Given the description of an element on the screen output the (x, y) to click on. 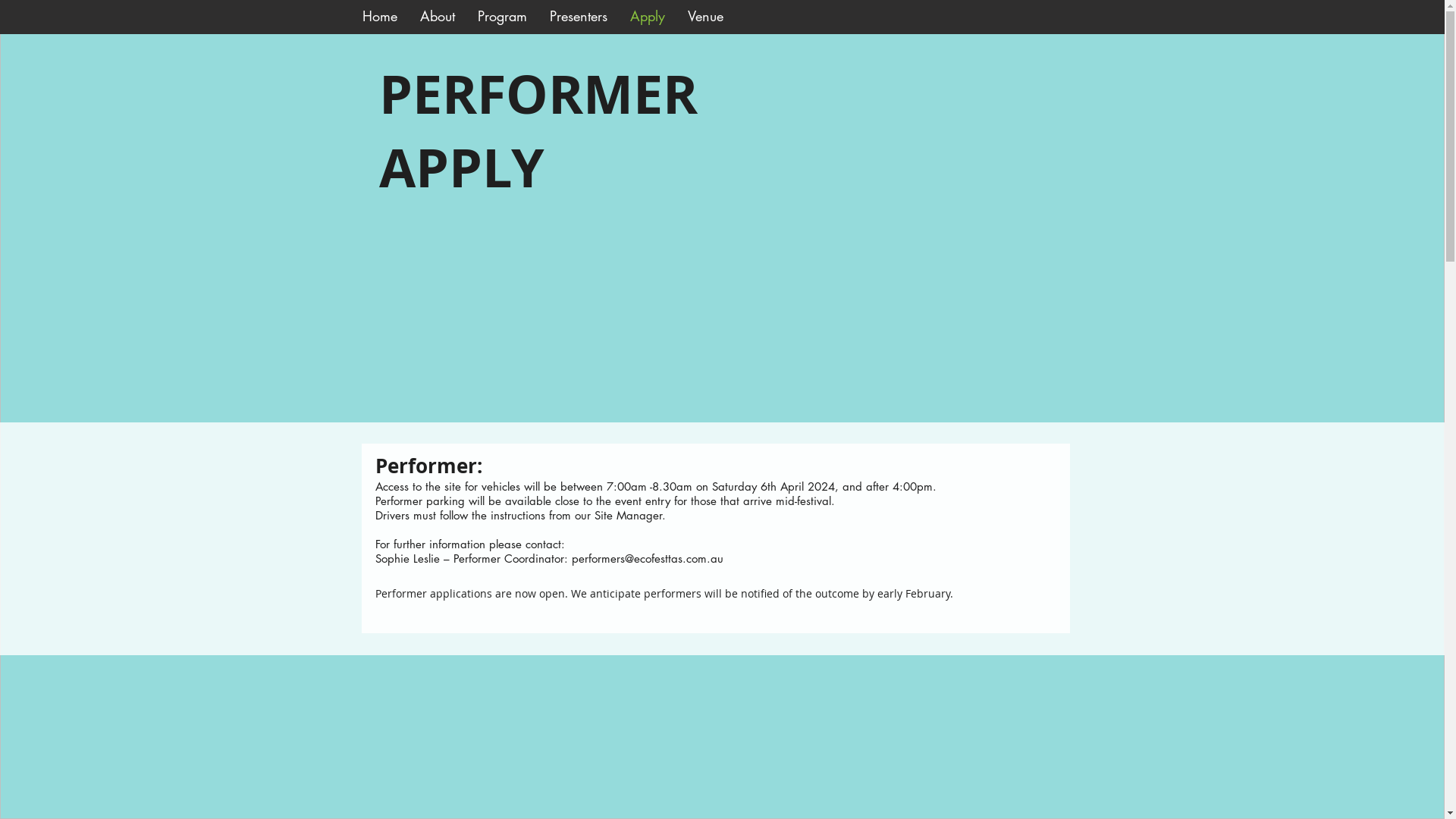
Program Element type: text (501, 15)
About Element type: text (436, 15)
Home Element type: text (378, 15)
Venue Element type: text (705, 15)
Apply Element type: text (647, 15)
Presenters Element type: text (578, 15)
performers@ecofesttas.com.au Element type: text (647, 558)
